Given the description of an element on the screen output the (x, y) to click on. 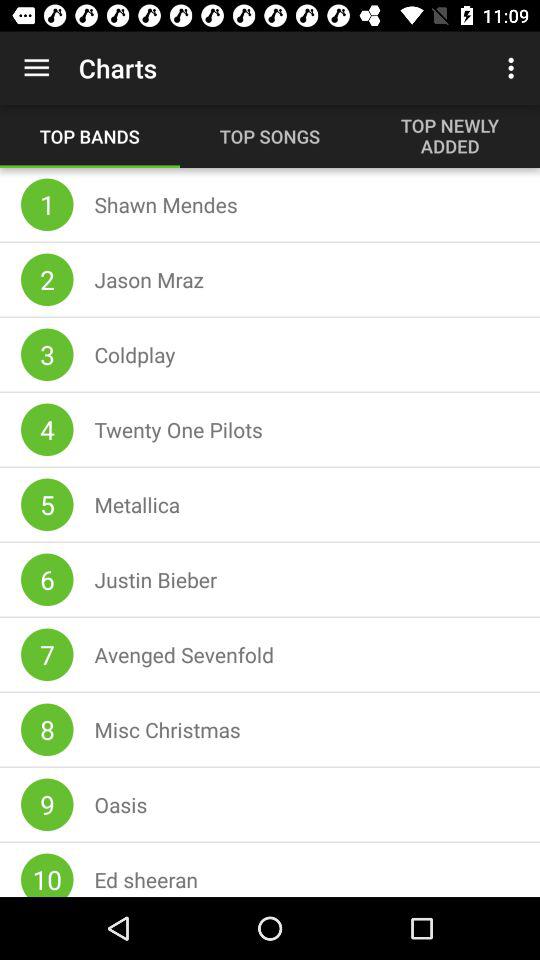
turn off the icon below 7 icon (47, 729)
